Given the description of an element on the screen output the (x, y) to click on. 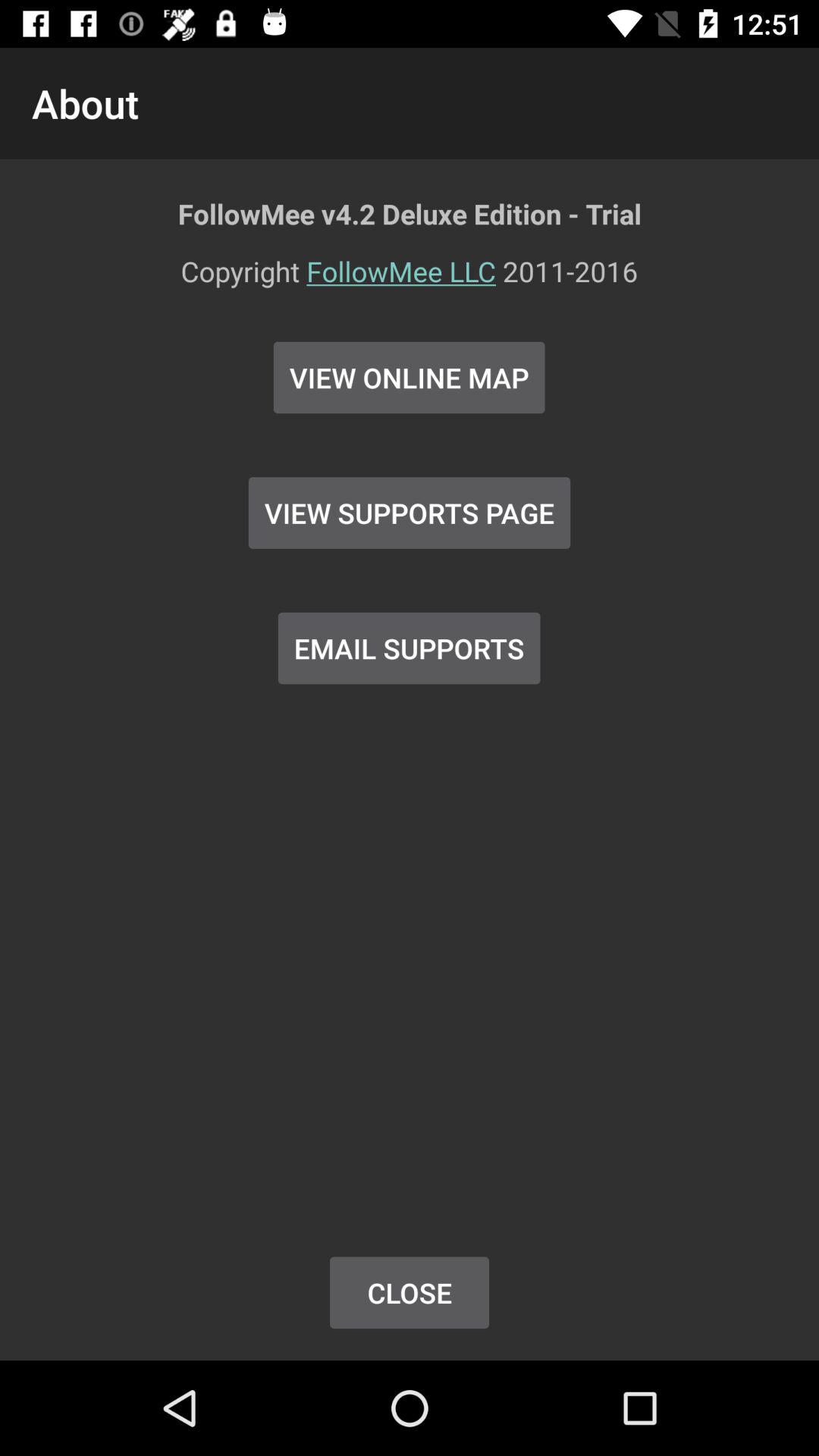
scroll until the copyright followmee llc app (409, 280)
